Given the description of an element on the screen output the (x, y) to click on. 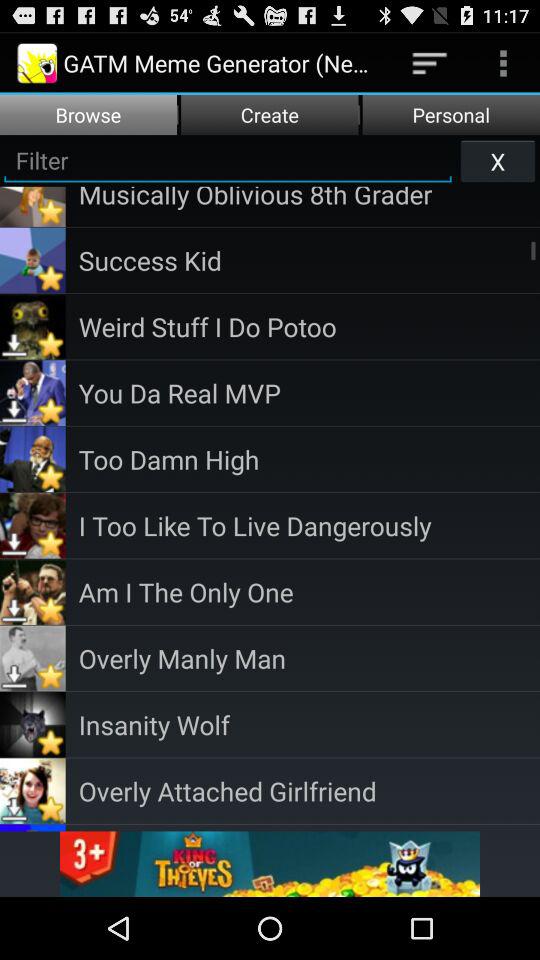
select advertisement (270, 864)
